Given the description of an element on the screen output the (x, y) to click on. 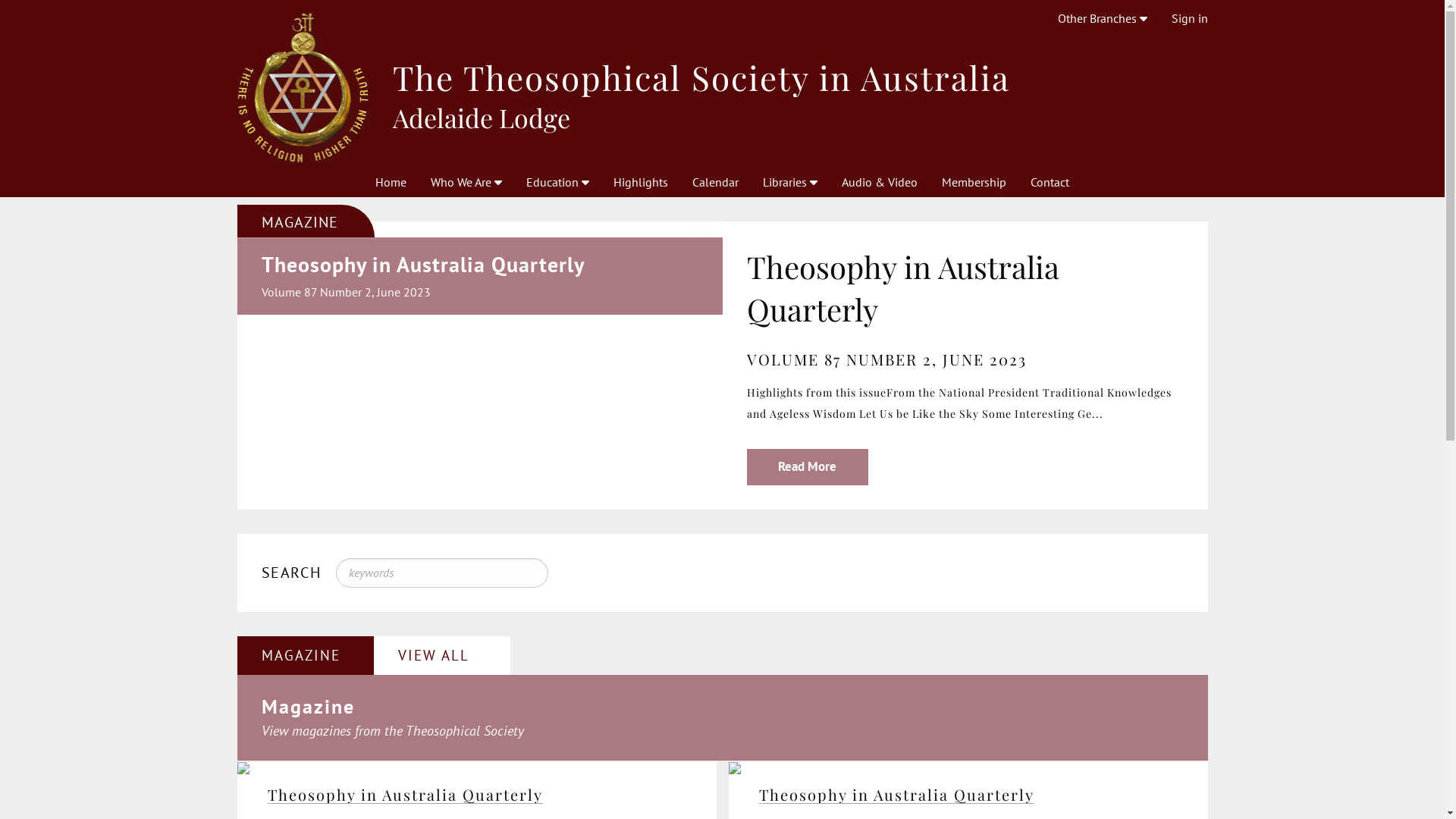
Contact Element type: text (1049, 181)
Other Branches Element type: text (1101, 18)
VIEW ALL Element type: text (441, 655)
MAGAZINE Element type: text (304, 655)
Membership Element type: text (973, 181)
Calendar Element type: text (715, 181)
Audio & Video Element type: text (879, 181)
Read More Element type: text (806, 466)
Education Element type: text (557, 181)
Sign in Element type: text (1188, 18)
Home Element type: text (390, 181)
The Theosophical
Society in Australia
Adelaide Lodge Element type: text (721, 87)
Who We Are Element type: text (466, 181)
Libraries Element type: text (789, 181)
Highlights Element type: text (640, 181)
